Given the description of an element on the screen output the (x, y) to click on. 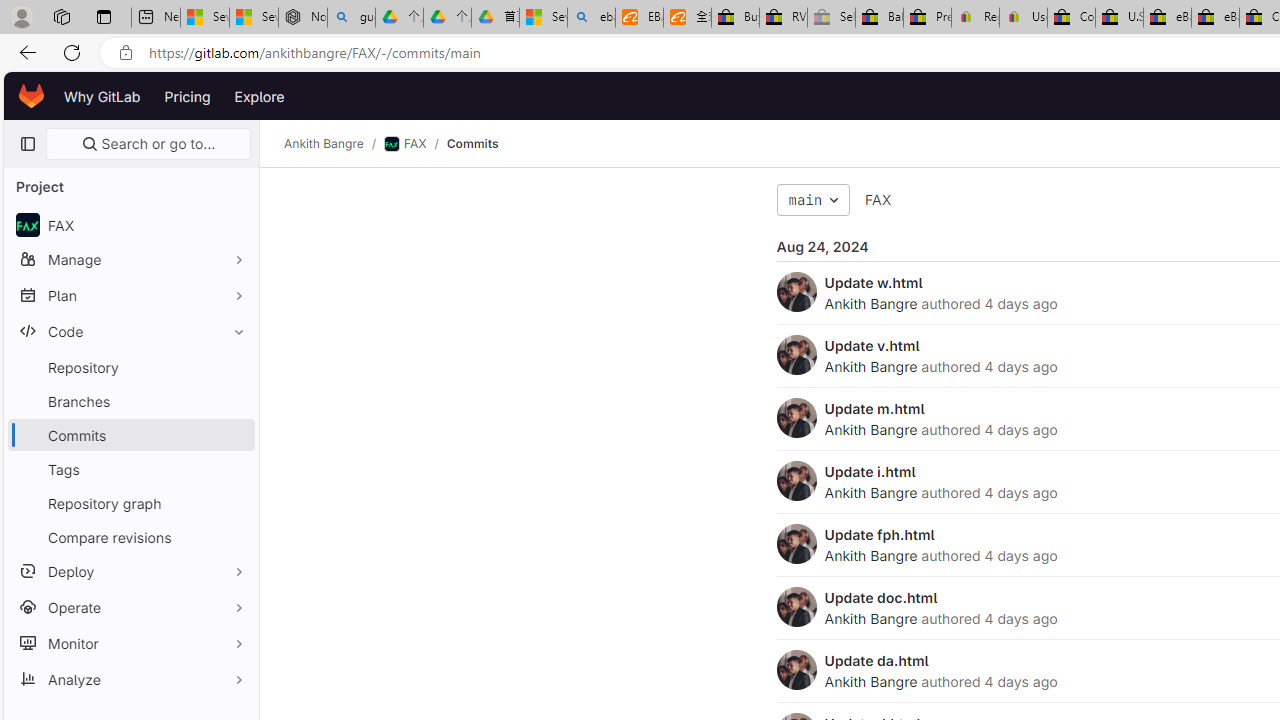
Repository (130, 367)
Update w.html (873, 282)
Update da.html (876, 660)
main (813, 200)
Update i.html (870, 471)
avatar (27, 224)
Monitor (130, 642)
Press Room - eBay Inc. (927, 17)
Repository (130, 367)
Deploy (130, 570)
FAX (878, 199)
Monitor (130, 642)
